Given the description of an element on the screen output the (x, y) to click on. 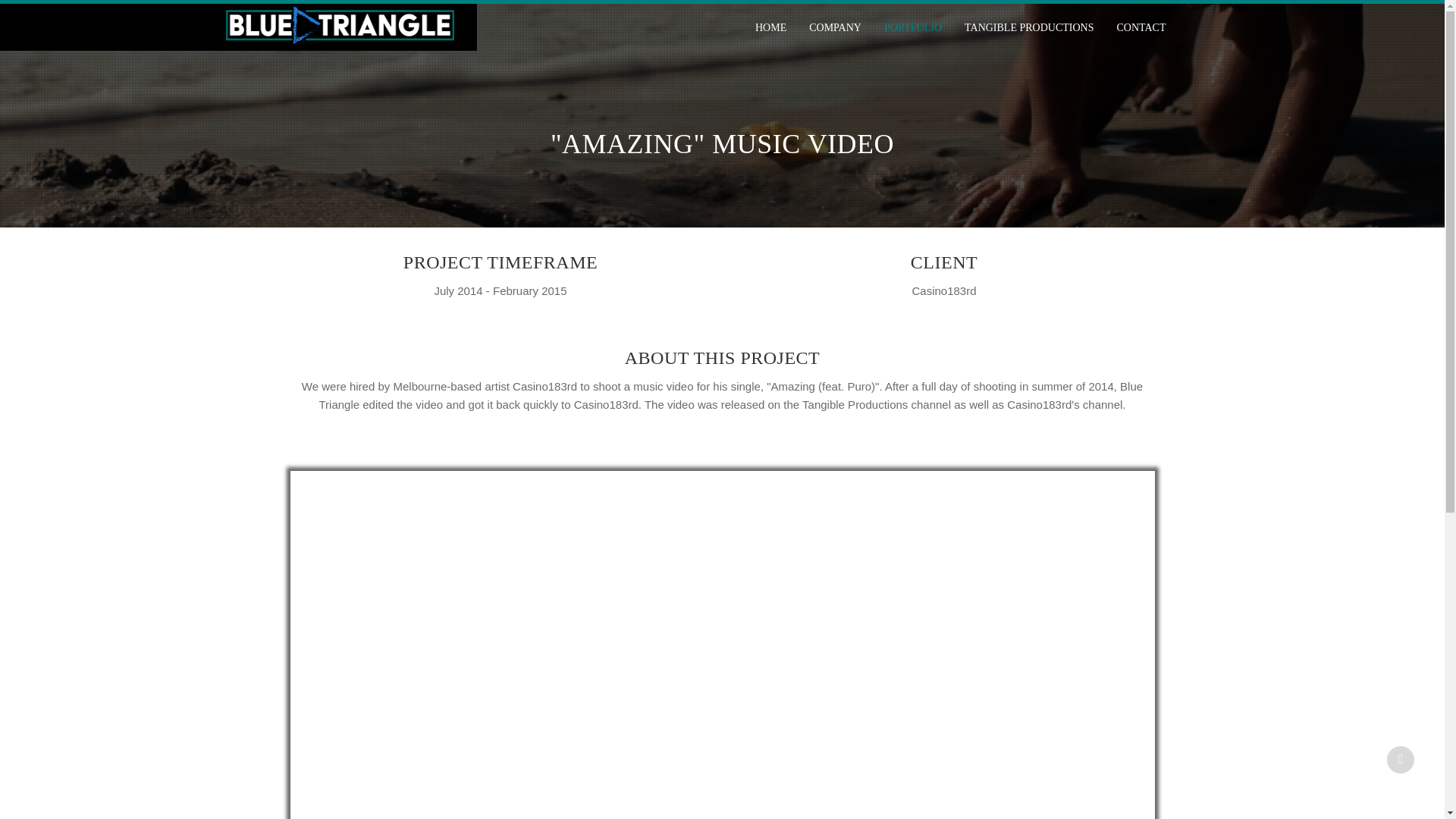
PORTFOLIO (912, 27)
TANGIBLE PRODUCTIONS (1029, 27)
COMPANY (834, 27)
Back to Top (1400, 759)
CONTACT (1135, 27)
HOME (770, 27)
